Given the description of an element on the screen output the (x, y) to click on. 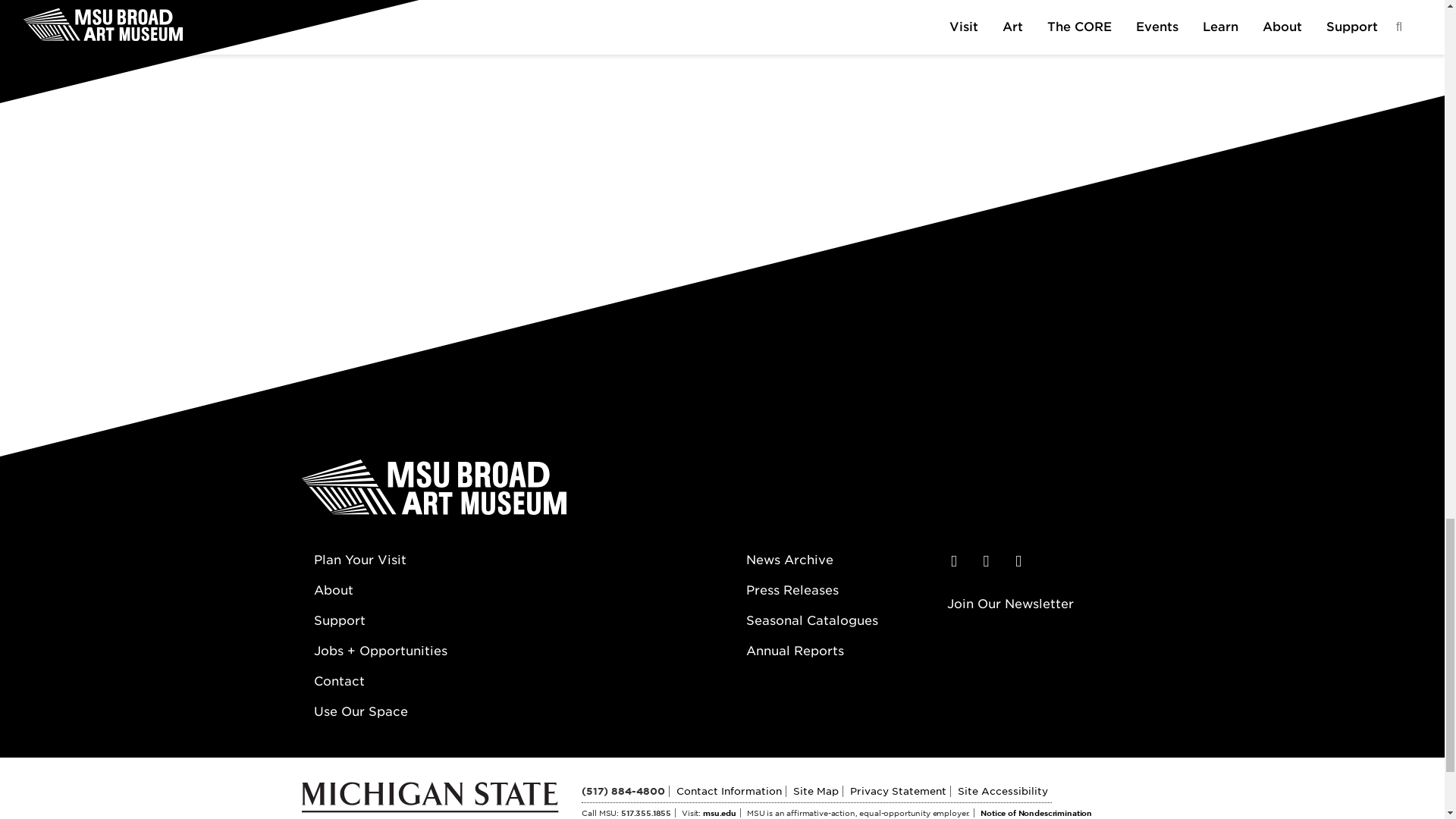
Facebook (953, 560)
YouTube (1019, 560)
Michigan State University Home (441, 807)
MSU Broad Art Museum Home (434, 492)
Instagram (986, 560)
